Given the description of an element on the screen output the (x, y) to click on. 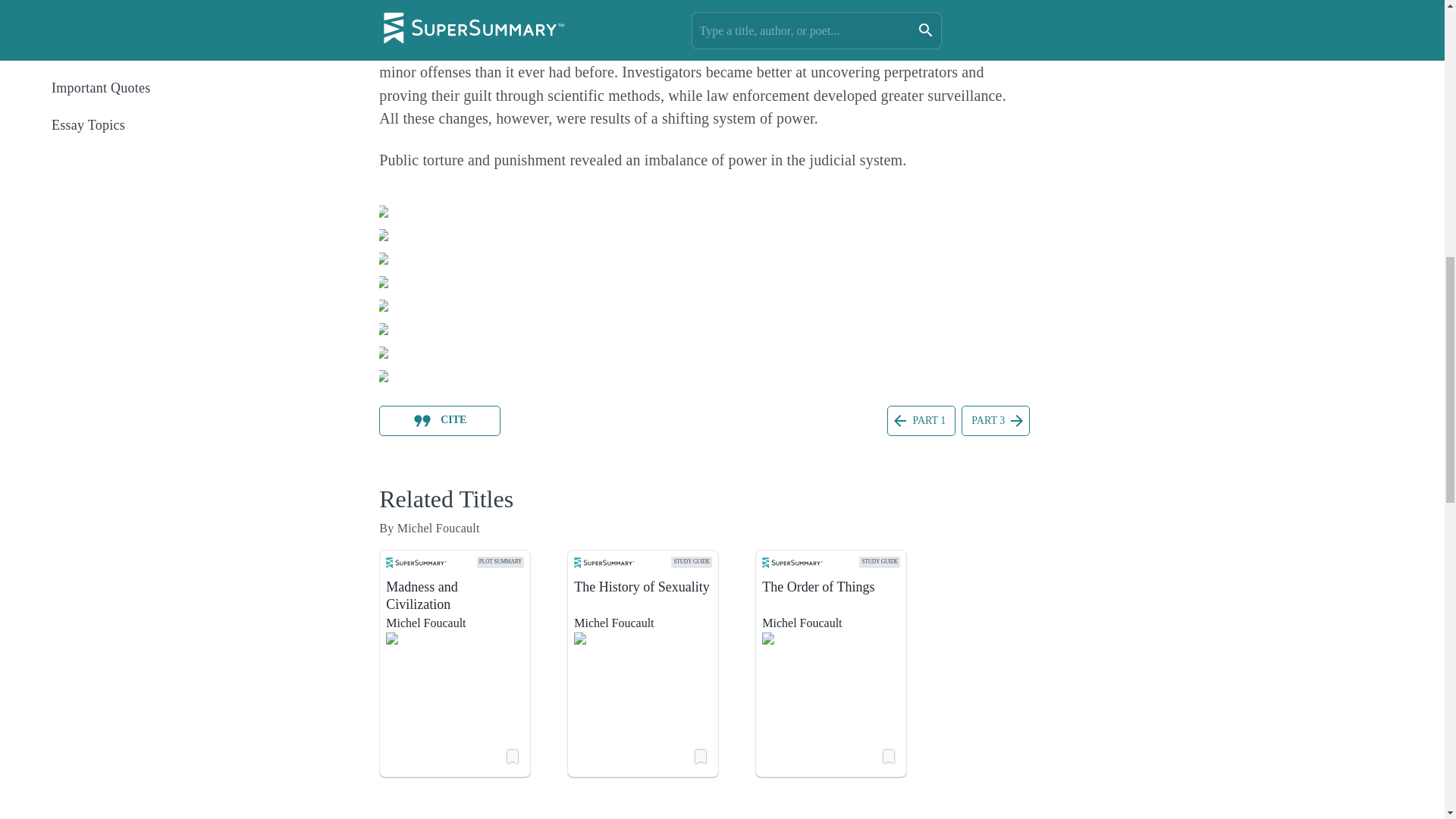
Themes (173, 12)
Index of Terms (172, 50)
Themes (172, 15)
Important Quotes (173, 88)
Essay Topics (172, 125)
Important Quotes (172, 88)
PART 3 (994, 420)
PART 3 (994, 418)
PART 1 (920, 418)
Index of Terms (173, 50)
